Given the description of an element on the screen output the (x, y) to click on. 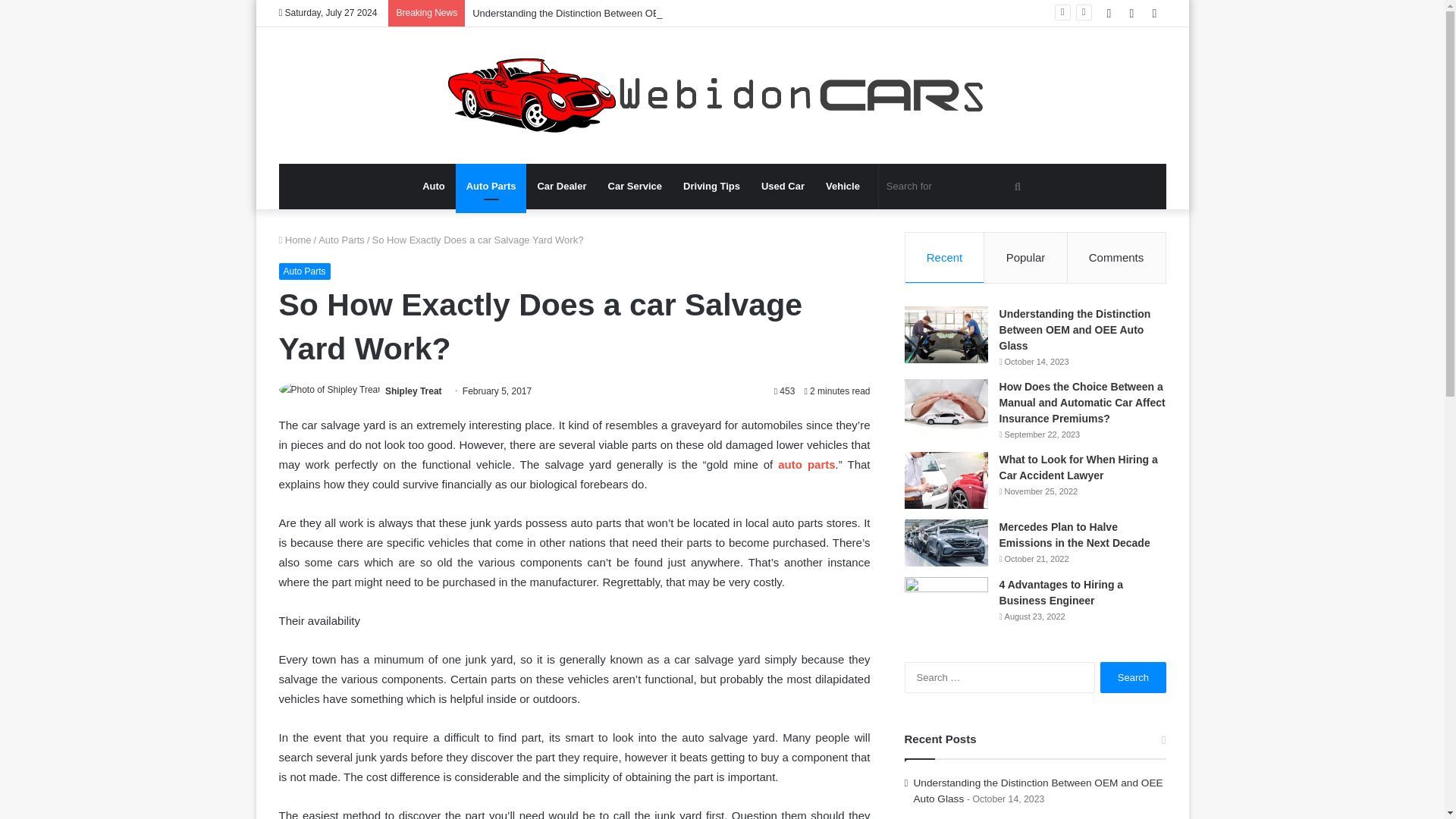
Home (295, 239)
Auto Parts (304, 271)
Shipley Treat (413, 390)
Shipley Treat (413, 390)
Car Service (634, 186)
Vehicle (842, 186)
Used Car (783, 186)
Search (1133, 676)
Search (1133, 676)
Auto Parts (491, 186)
Random Article (1131, 13)
Log In (1109, 13)
Sidebar (1154, 13)
Webidon Cars - Used Car Suggestions - Get the Best Tips (721, 95)
Search for (955, 186)
